Given the description of an element on the screen output the (x, y) to click on. 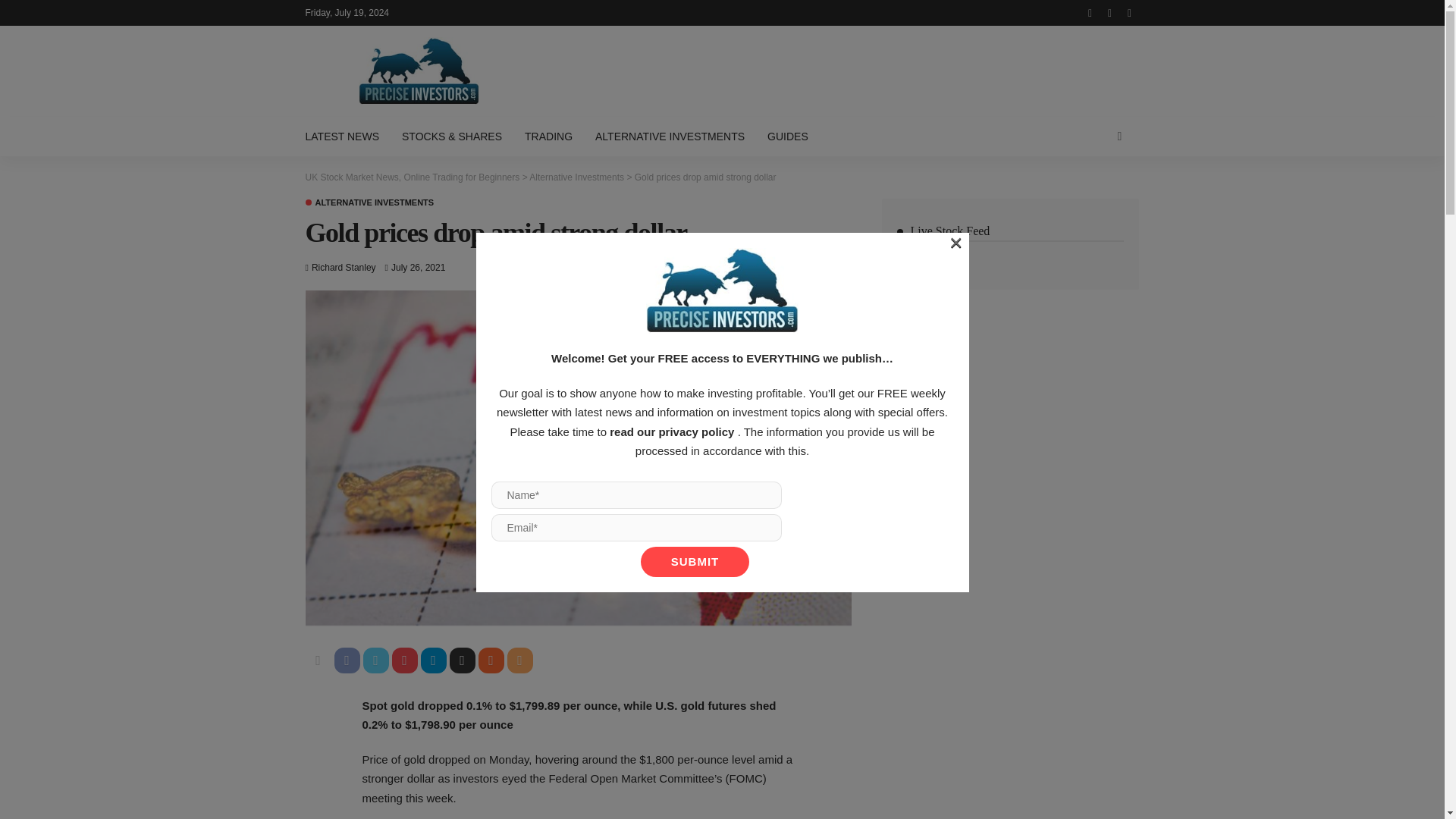
Alternative Investments (576, 176)
Go to UK Stock Market News, Online Trading for Beginners. (411, 176)
GUIDES (787, 136)
Alternative Investments (368, 203)
ALTERNATIVE INVESTMENTS (368, 203)
Submit (694, 562)
TRADING (548, 136)
Richard Stanley (343, 267)
ALTERNATIVE INVESTMENTS (669, 136)
UK Stock Market News, Online Trading for Beginners (411, 176)
search (1118, 136)
LATEST NEWS (347, 136)
Go to the Alternative Investments Category archives. (576, 176)
